Given the description of an element on the screen output the (x, y) to click on. 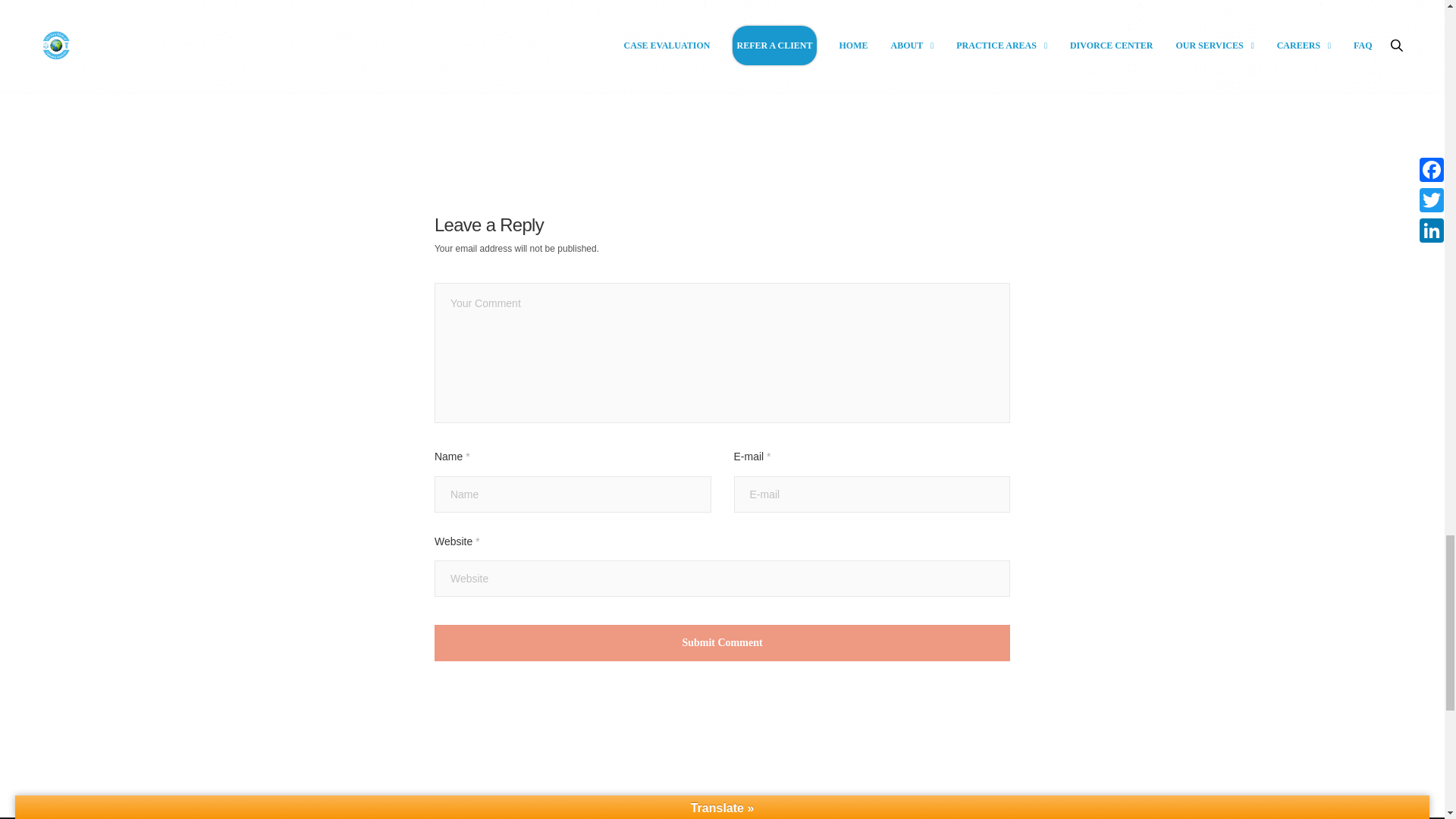
Submit Comment (721, 642)
